Given the description of an element on the screen output the (x, y) to click on. 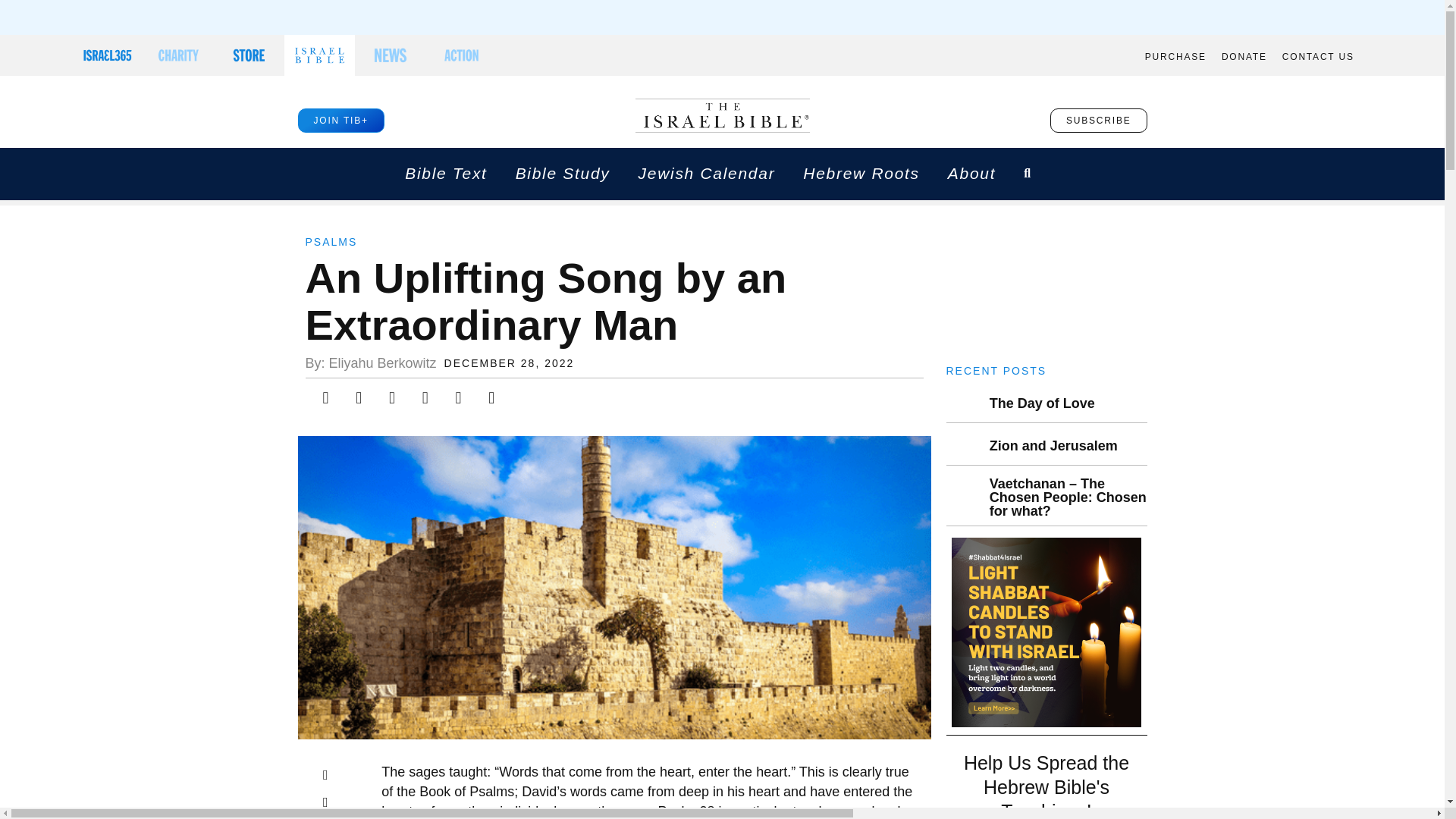
SUBSCRIBE (1098, 120)
PURCHASE (1175, 56)
CONTACT US (1318, 56)
DONATE (1243, 56)
